Given the description of an element on the screen output the (x, y) to click on. 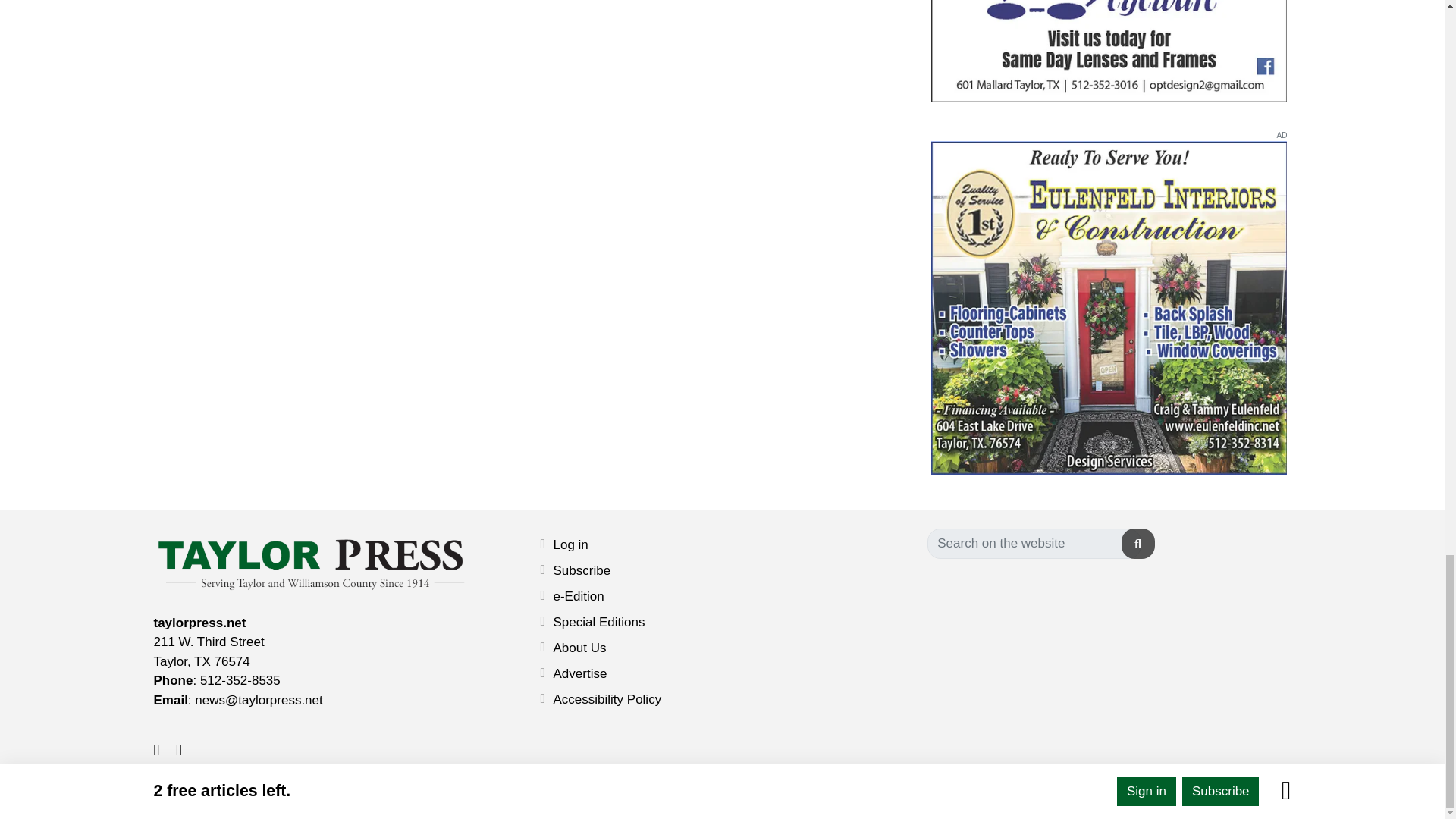
www.etypeservices.com (841, 793)
www.4media.com (623, 797)
www.4media.com (747, 793)
